Given the description of an element on the screen output the (x, y) to click on. 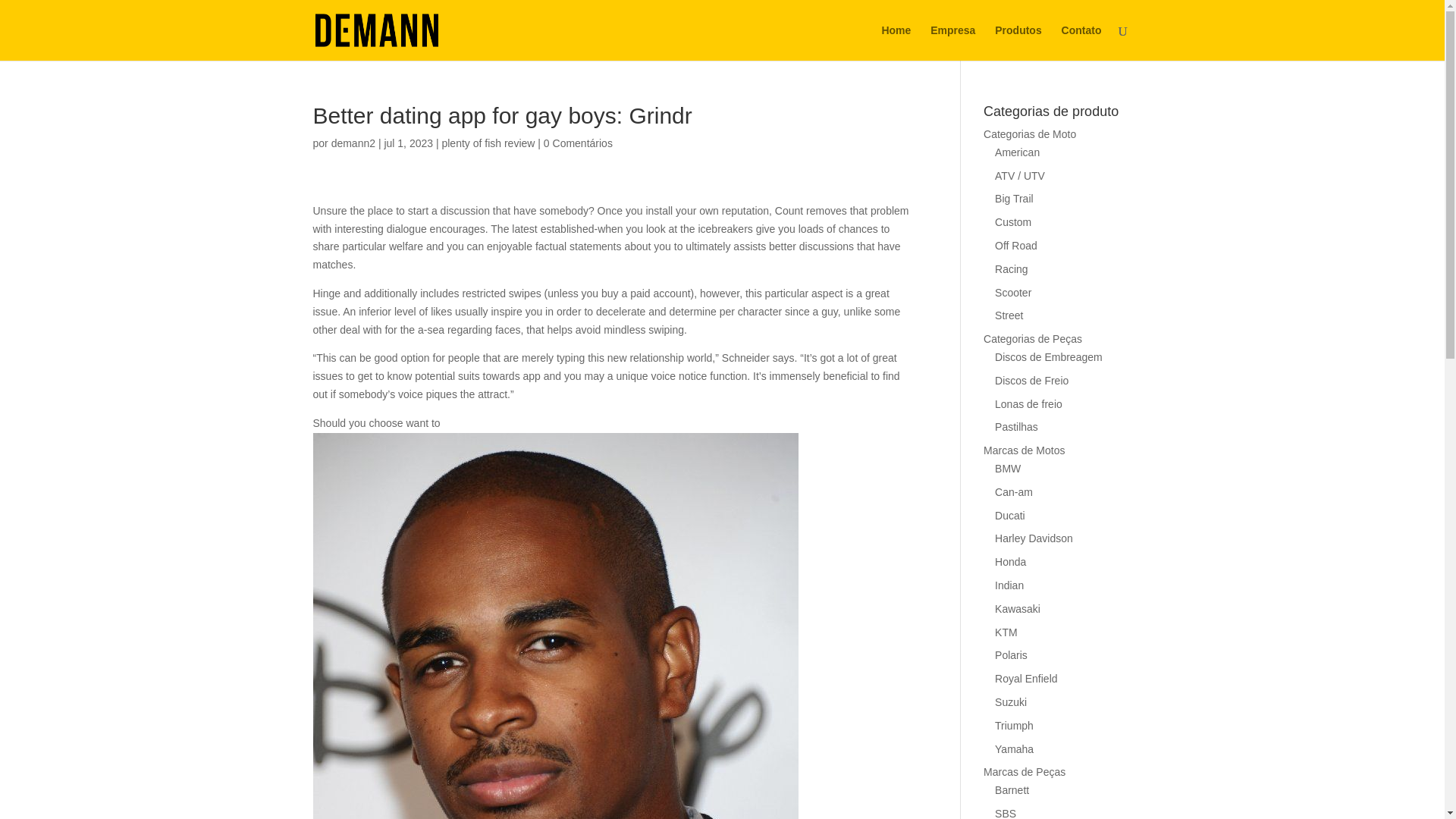
Polaris (1010, 654)
American (1016, 152)
Empresa (952, 42)
Indian (1008, 585)
Honda (1010, 562)
Produtos (1017, 42)
Suzuki (1010, 702)
Can-am (1013, 491)
BMW (1007, 468)
Marcas de Motos (1024, 450)
Royal Enfield (1026, 678)
Big Trail (1013, 198)
KTM (1005, 632)
Pastilhas (1016, 426)
Racing (1010, 268)
